Given the description of an element on the screen output the (x, y) to click on. 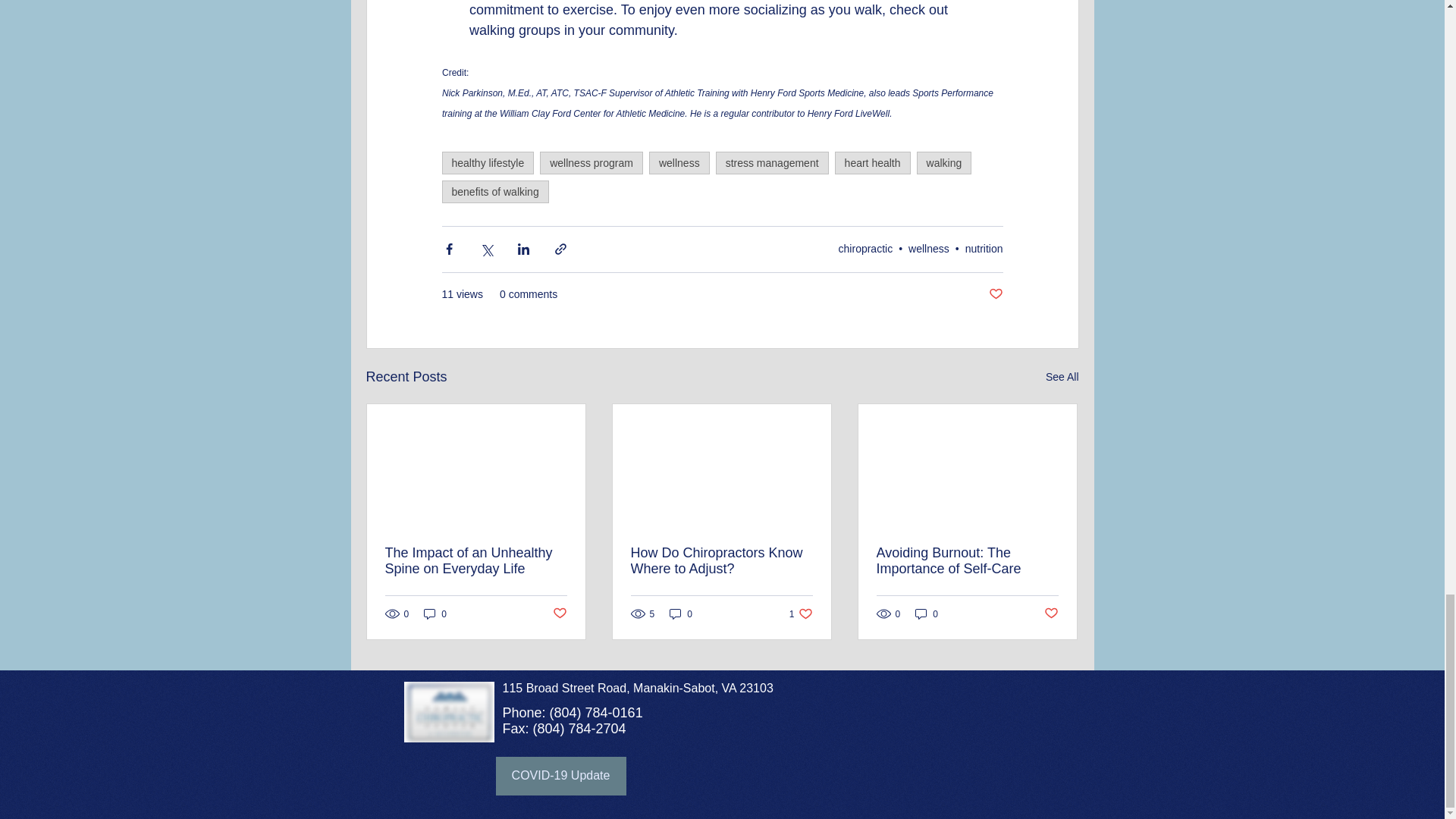
healthy lifestyle (487, 162)
Post not marked as liked (995, 294)
See All (1061, 377)
heart health (872, 162)
stress management (772, 162)
nutrition (984, 248)
wellness (679, 162)
walking (944, 162)
benefits of walking (494, 191)
wellness program (591, 162)
